Given the description of an element on the screen output the (x, y) to click on. 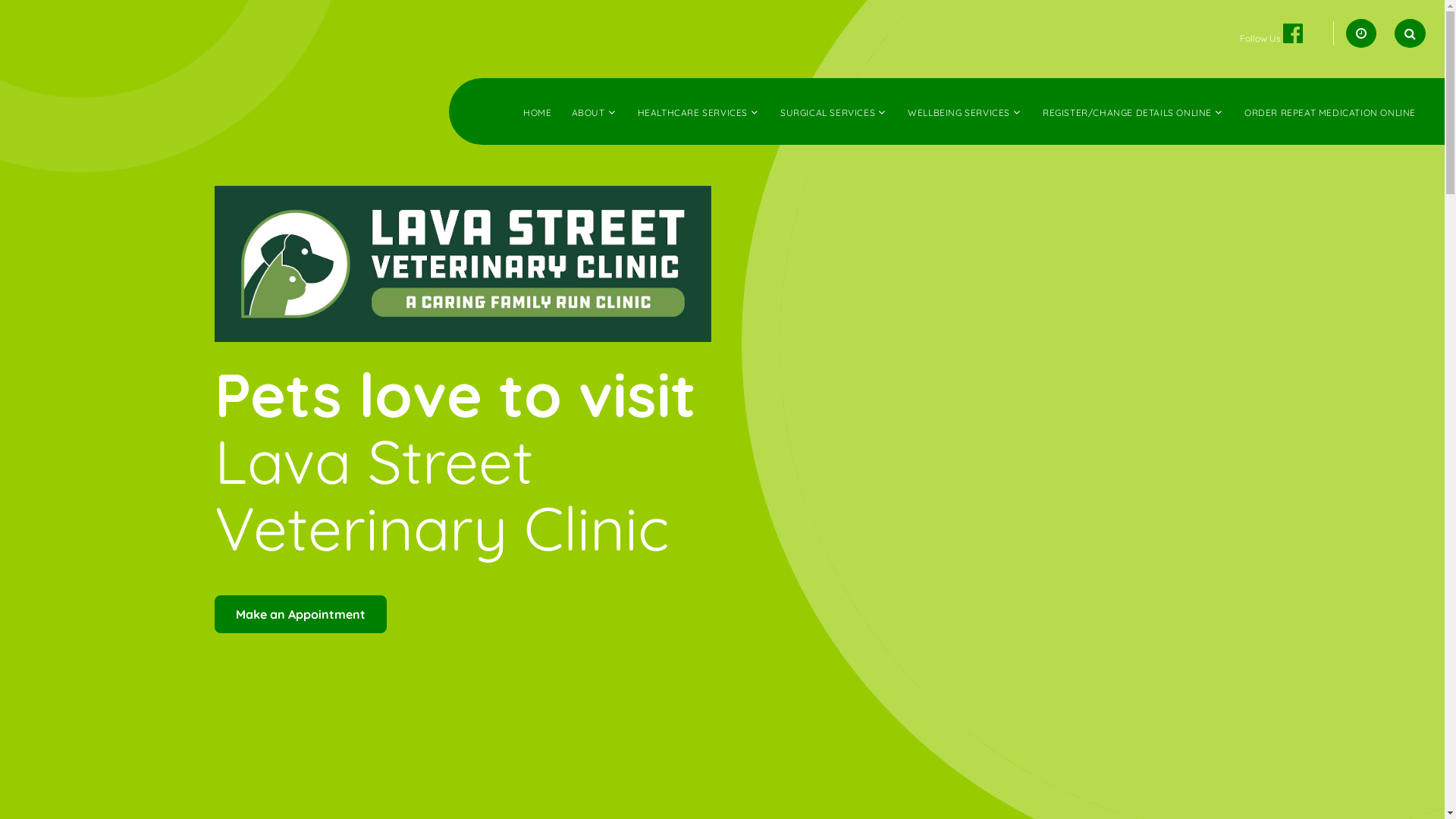
WELLBEING SERVICES Element type: text (958, 112)
HEALTHCARE SERVICES Element type: text (692, 112)
REGISTER/CHANGE DETAILS ONLINE Element type: text (1126, 112)
Make an Appointment Element type: text (299, 614)
HOME Element type: text (537, 112)
SURGICAL SERVICES Element type: text (827, 112)
ORDER REPEAT MEDICATION ONLINE Element type: text (1329, 112)
ABOUT Element type: text (588, 112)
